Given the description of an element on the screen output the (x, y) to click on. 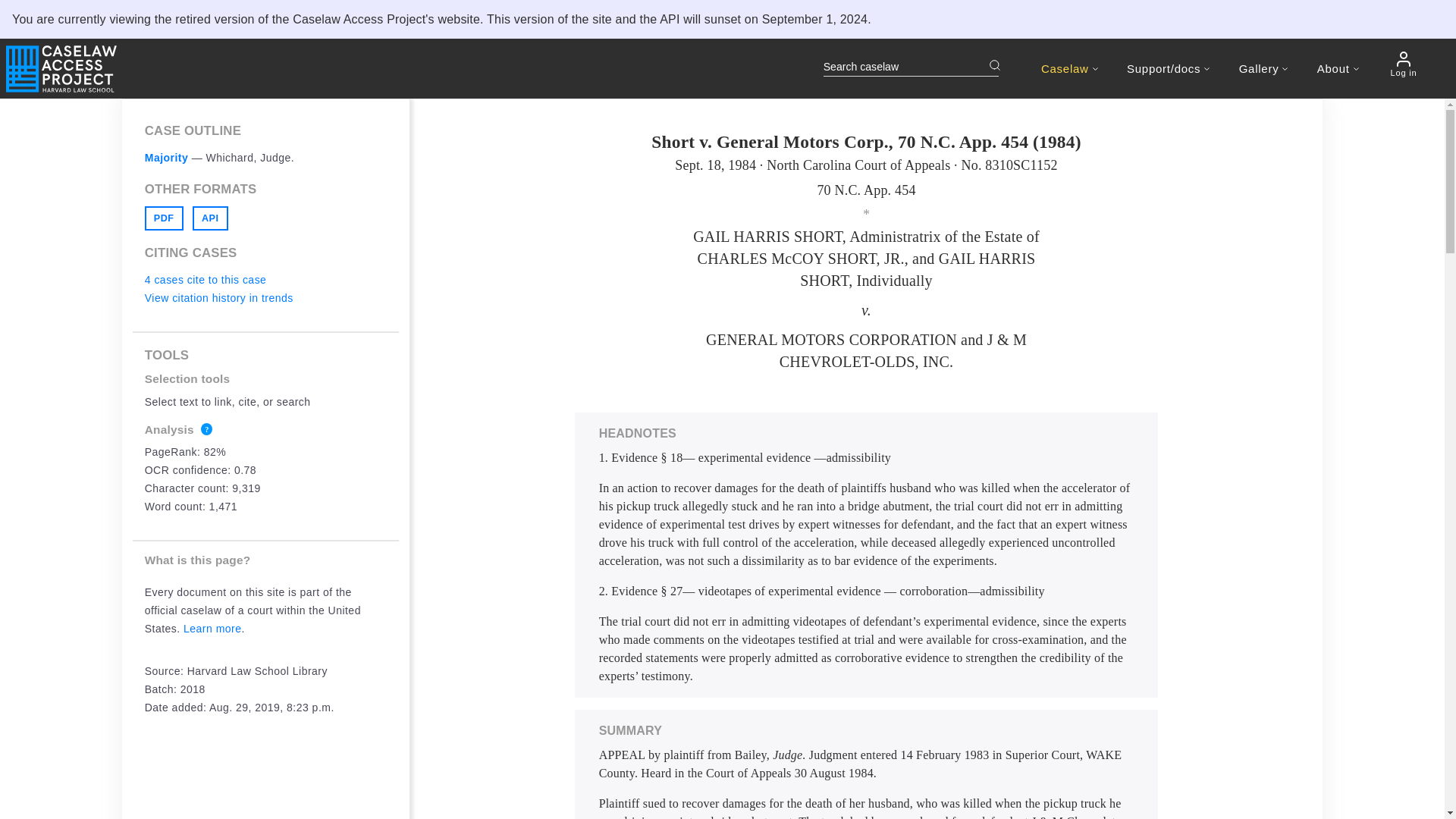
Majority (166, 157)
About (1338, 68)
Gallery (1263, 68)
API (210, 218)
Log in (1403, 64)
PDF (163, 218)
4 cases cite to this case (205, 279)
Learn more (212, 628)
Caselaw (1069, 68)
View citation history in trends (219, 297)
